Given the description of an element on the screen output the (x, y) to click on. 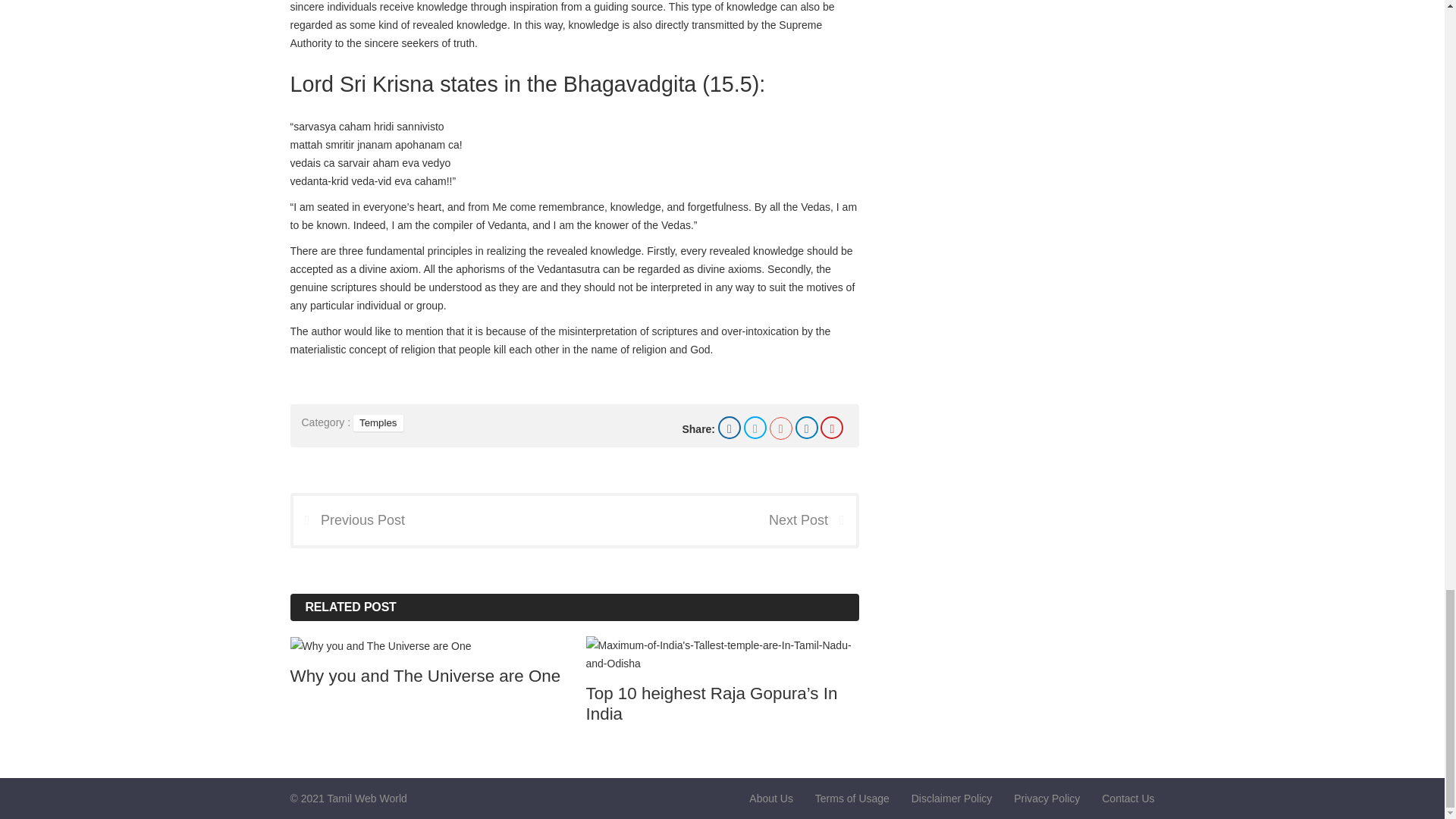
Previous Post (348, 519)
Google Plus (781, 427)
Linkedin (806, 427)
Twitter (755, 427)
Temples (378, 422)
Pinterest (832, 427)
Facebook (729, 427)
